Given the description of an element on the screen output the (x, y) to click on. 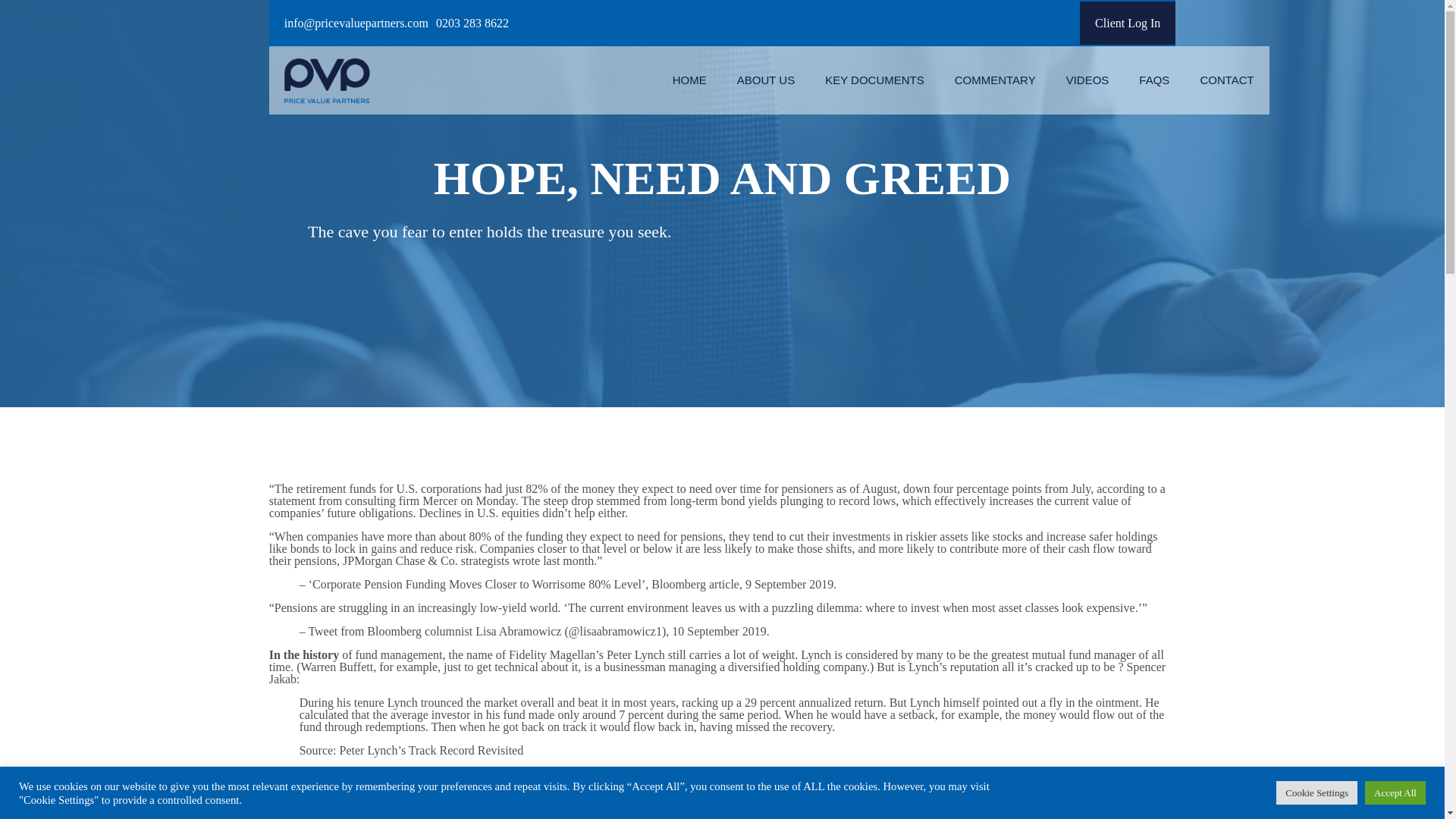
CONTACT (1226, 79)
Client Log In (1127, 23)
KEY DOCUMENTS (874, 79)
ABOUT US (765, 79)
0203 283 8622 (471, 22)
VIDEOS (1087, 79)
FAQS (1154, 79)
HOME (690, 79)
COMMENTARY (995, 79)
Price Value Partners (327, 79)
